Given the description of an element on the screen output the (x, y) to click on. 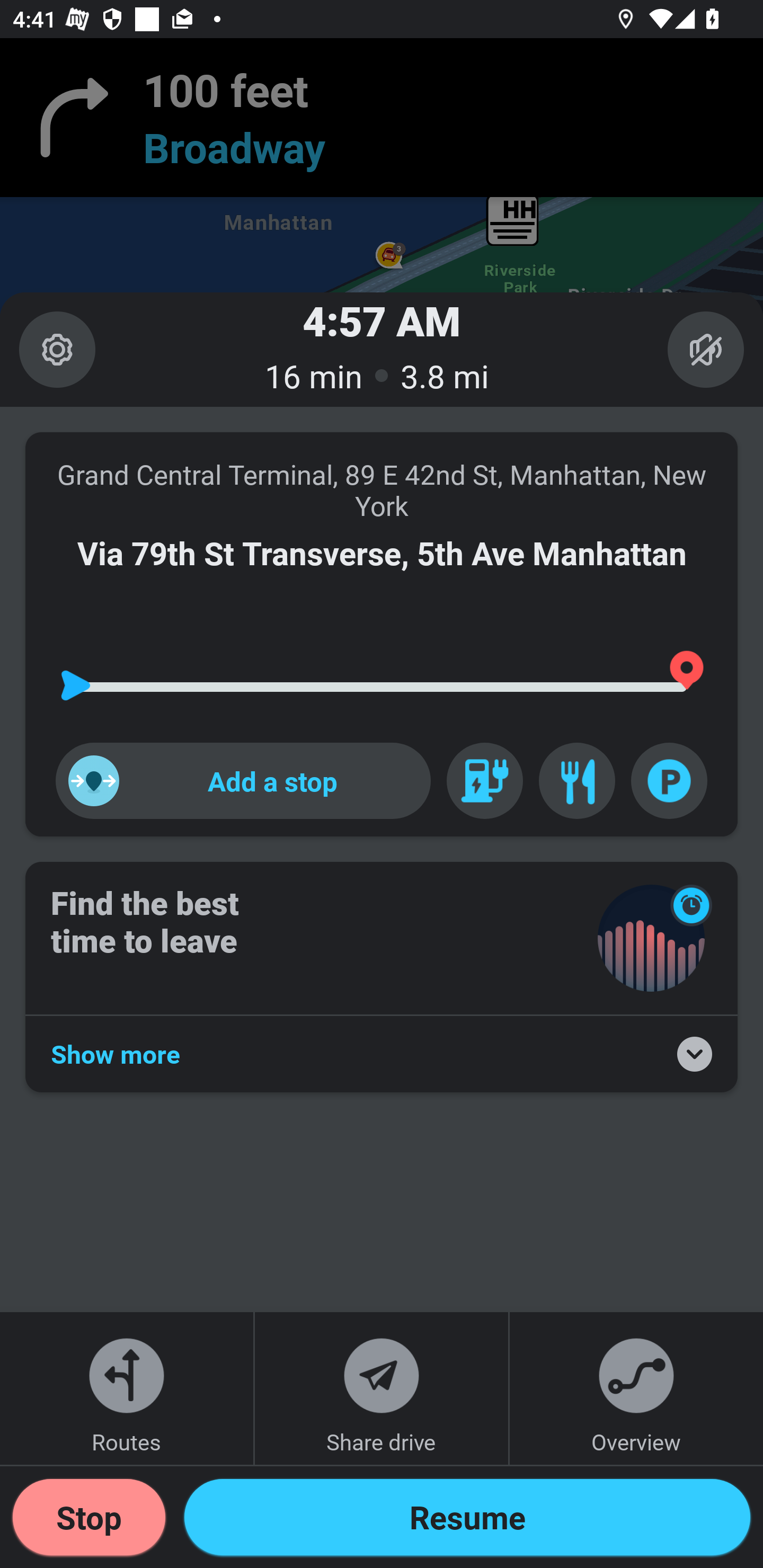
100 feet Broadway (381, 117)
4:57 AM 16 min 3.8 mi (381, 348)
Add a stop (243, 780)
Find the best time to leave Show more (381, 977)
Routes (126, 1388)
Share drive (381, 1388)
Overview (636, 1388)
Stop (88, 1516)
ETA_DRAWER_GO_BUTTON Resume (466, 1516)
